Given the description of an element on the screen output the (x, y) to click on. 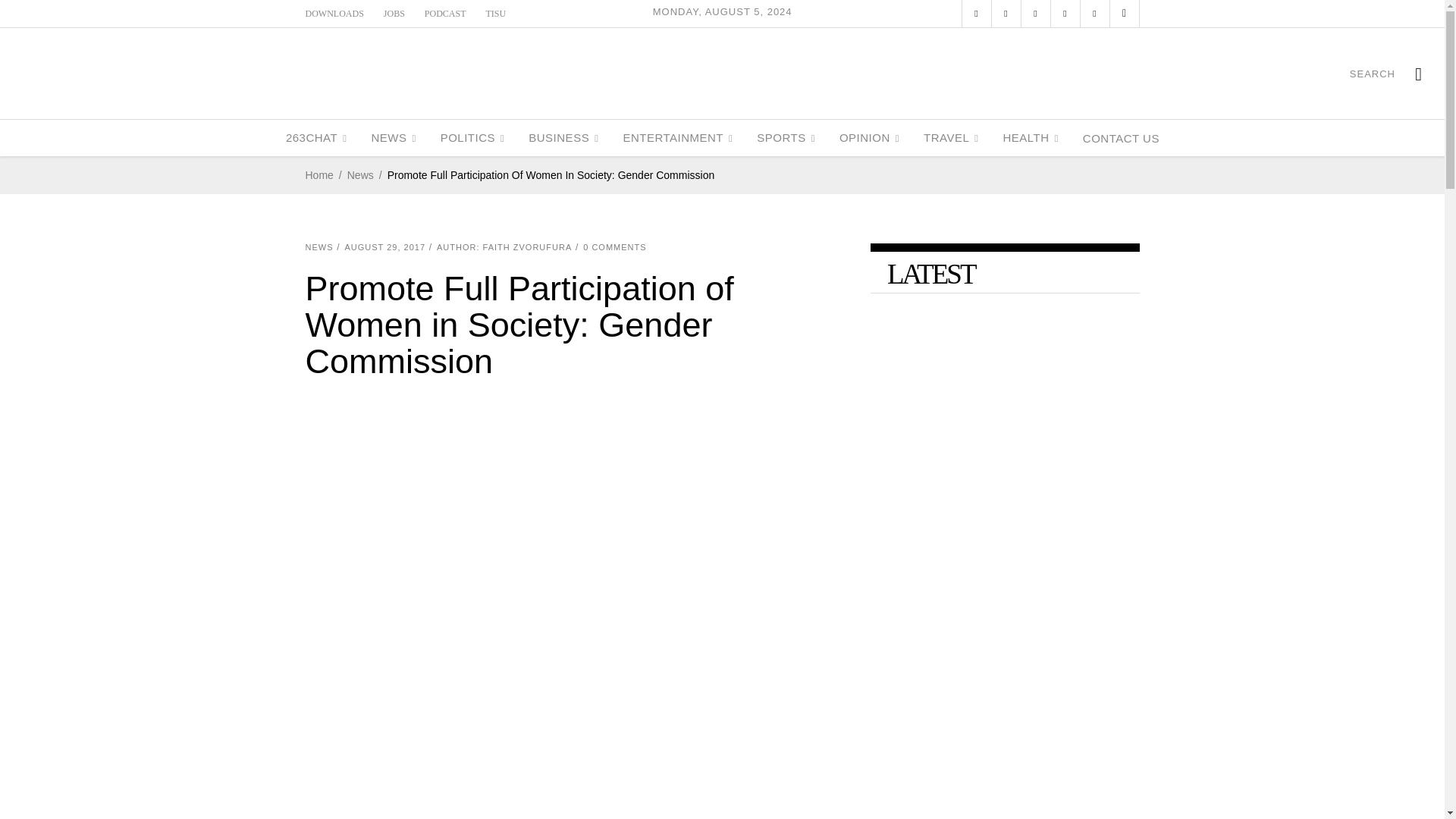
JOBS (394, 13)
263CHAT (316, 137)
TISU (496, 13)
POLITICS (472, 137)
NEWS (393, 137)
DOWNLOADS (333, 13)
PODCAST (445, 13)
